Given the description of an element on the screen output the (x, y) to click on. 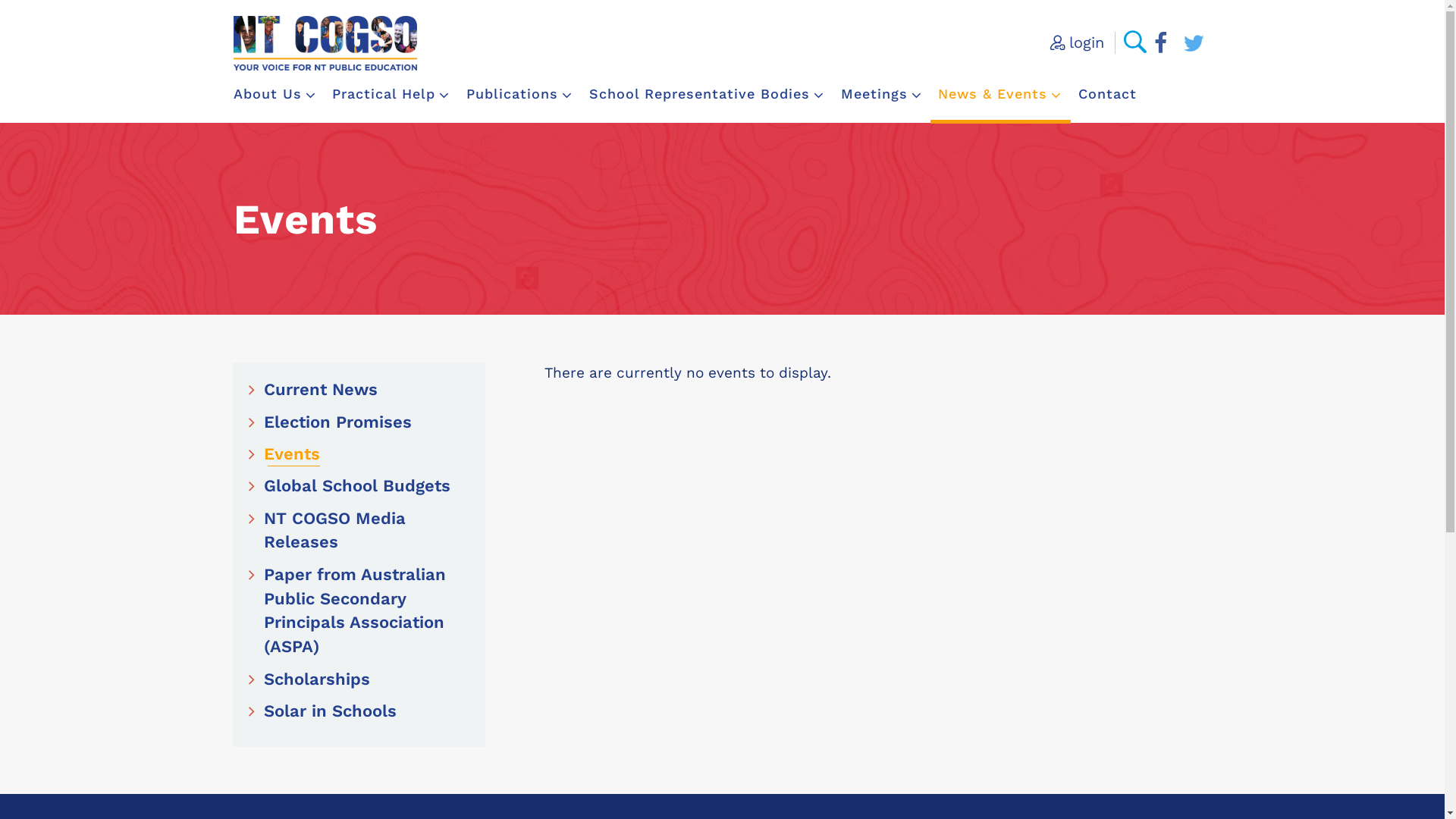
School Representative Bodies Element type: text (707, 93)
Contact Element type: text (1107, 93)
Events Element type: text (284, 454)
Election Promises Element type: text (329, 422)
Global School Budgets Element type: text (349, 485)
Current News Element type: text (312, 389)
Practical Help Element type: text (391, 93)
login Element type: text (1076, 42)
Skip to main content Element type: text (22, 22)
Link opens in a new window Element type: hover (1160, 44)
Search Element type: text (1134, 41)
Solar in Schools Element type: text (322, 711)
News & Events Element type: text (1000, 93)
Publications Element type: text (519, 93)
Meetings Element type: text (881, 93)
Search Element type: text (42, 18)
Link opens in a new window Element type: hover (1193, 44)
About Us Element type: text (274, 93)
NT COGSO Media Releases Element type: text (358, 530)
Scholarships Element type: text (309, 679)
